Given the description of an element on the screen output the (x, y) to click on. 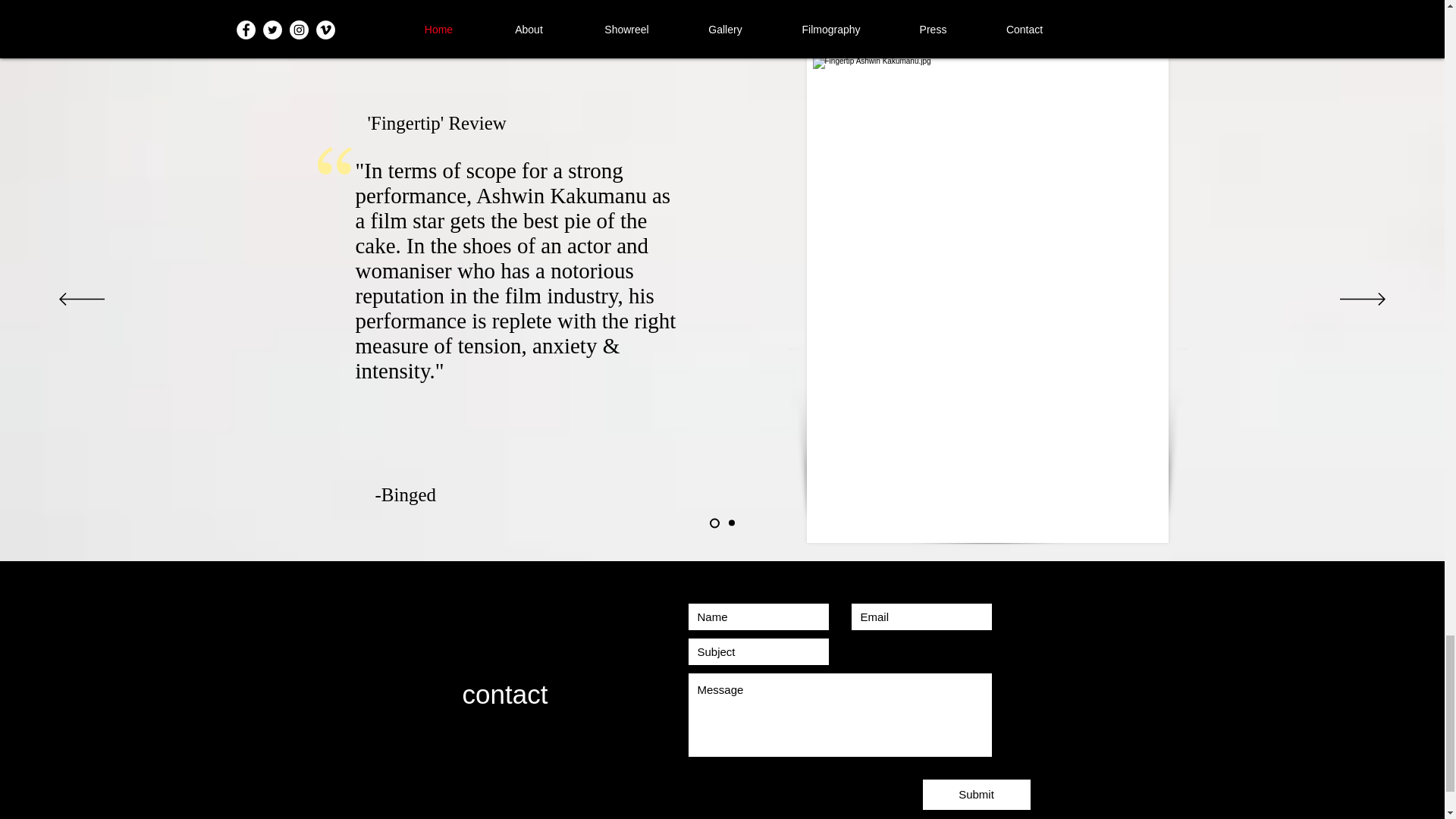
Submit (975, 794)
